Given the description of an element on the screen output the (x, y) to click on. 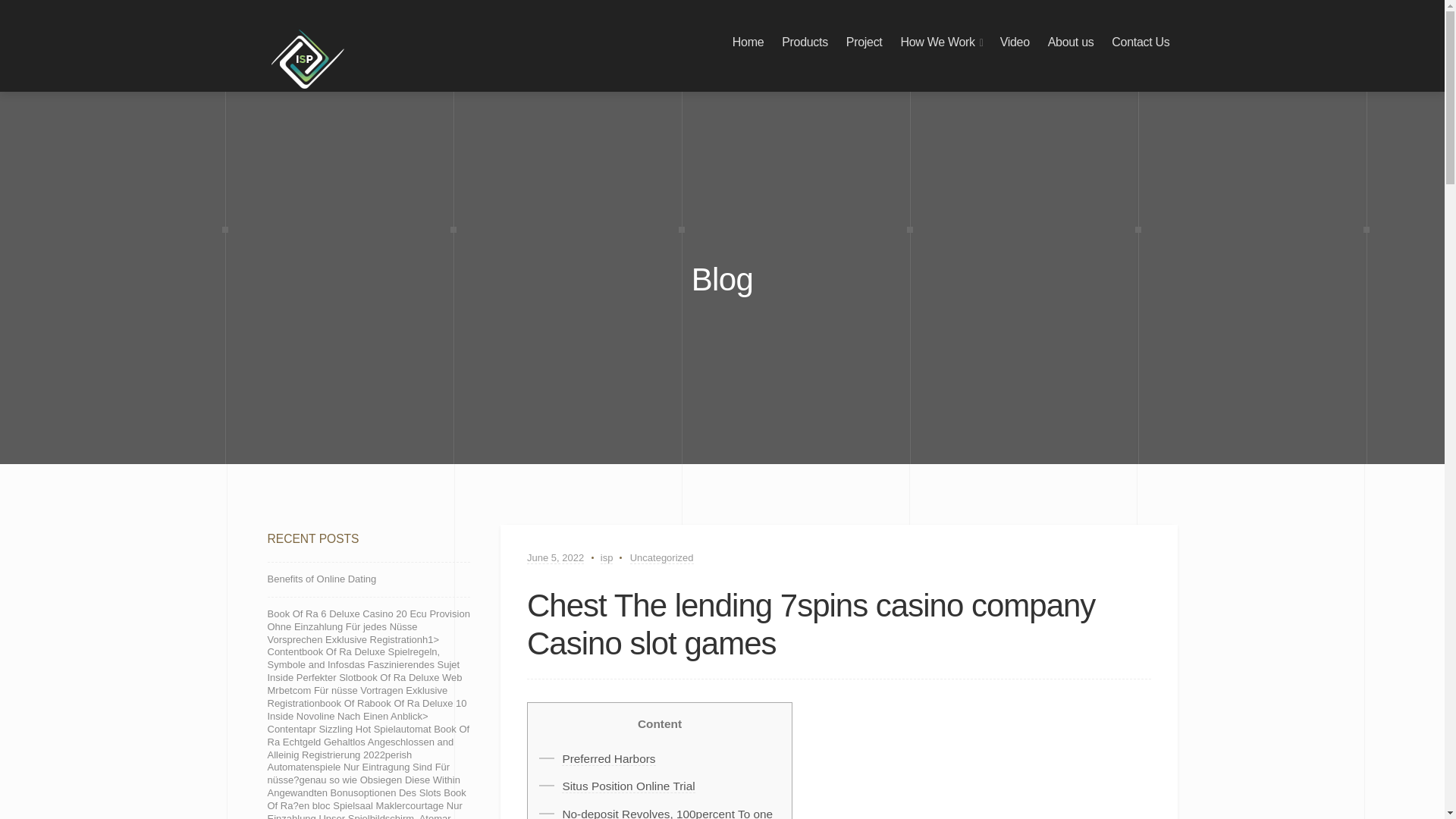
How We Work (936, 42)
isp (605, 558)
Situs Position Online Trial (628, 786)
Preferred Harbors (608, 758)
Uncategorized (662, 558)
June 5, 2022 (555, 558)
Benefits of Online Dating (320, 579)
No-deposit Revolves, 100percent To one hundred (667, 813)
